Given the description of an element on the screen output the (x, y) to click on. 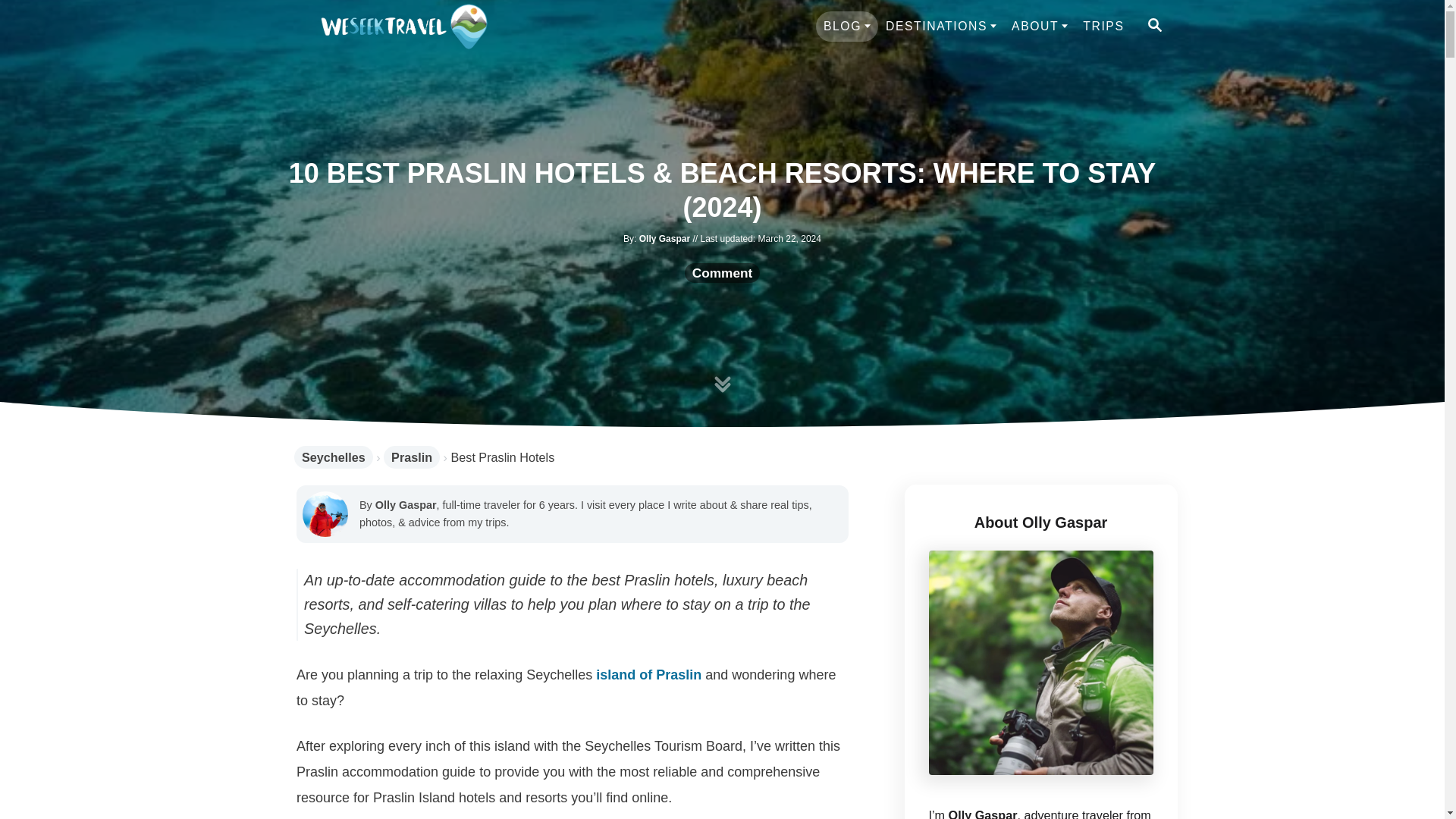
BLOG (846, 26)
DESTINATIONS (940, 26)
SEARCH (1153, 26)
We Seek Travel (403, 26)
